Given the description of an element on the screen output the (x, y) to click on. 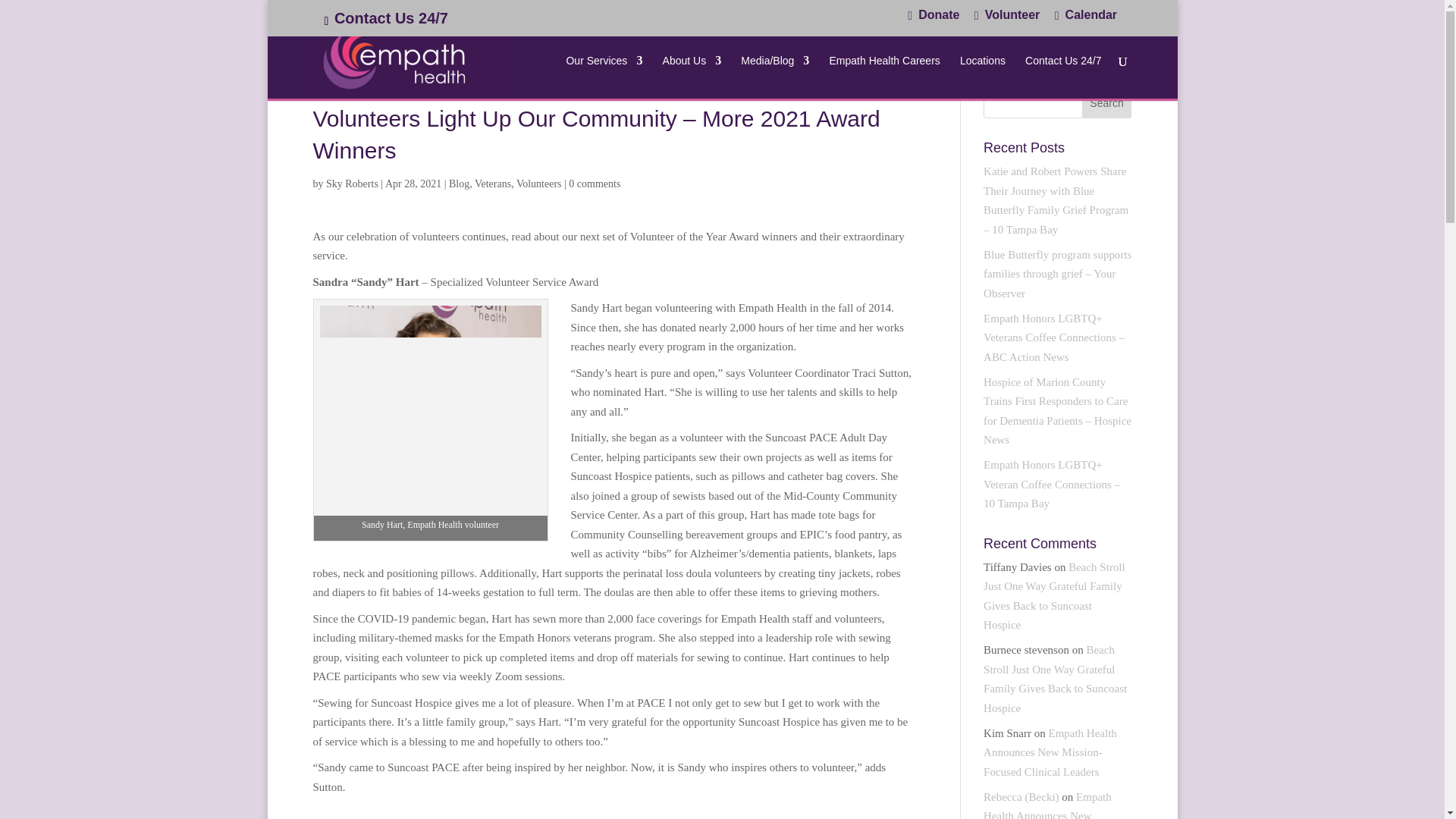
Posts by Sky Roberts (352, 183)
Volunteer (1006, 20)
Search (1106, 102)
Search (1106, 102)
Locations (982, 76)
Volunteers (539, 183)
Veterans (492, 183)
Sky Roberts (352, 183)
0 comments (594, 183)
About Us (692, 76)
